Given the description of an element on the screen output the (x, y) to click on. 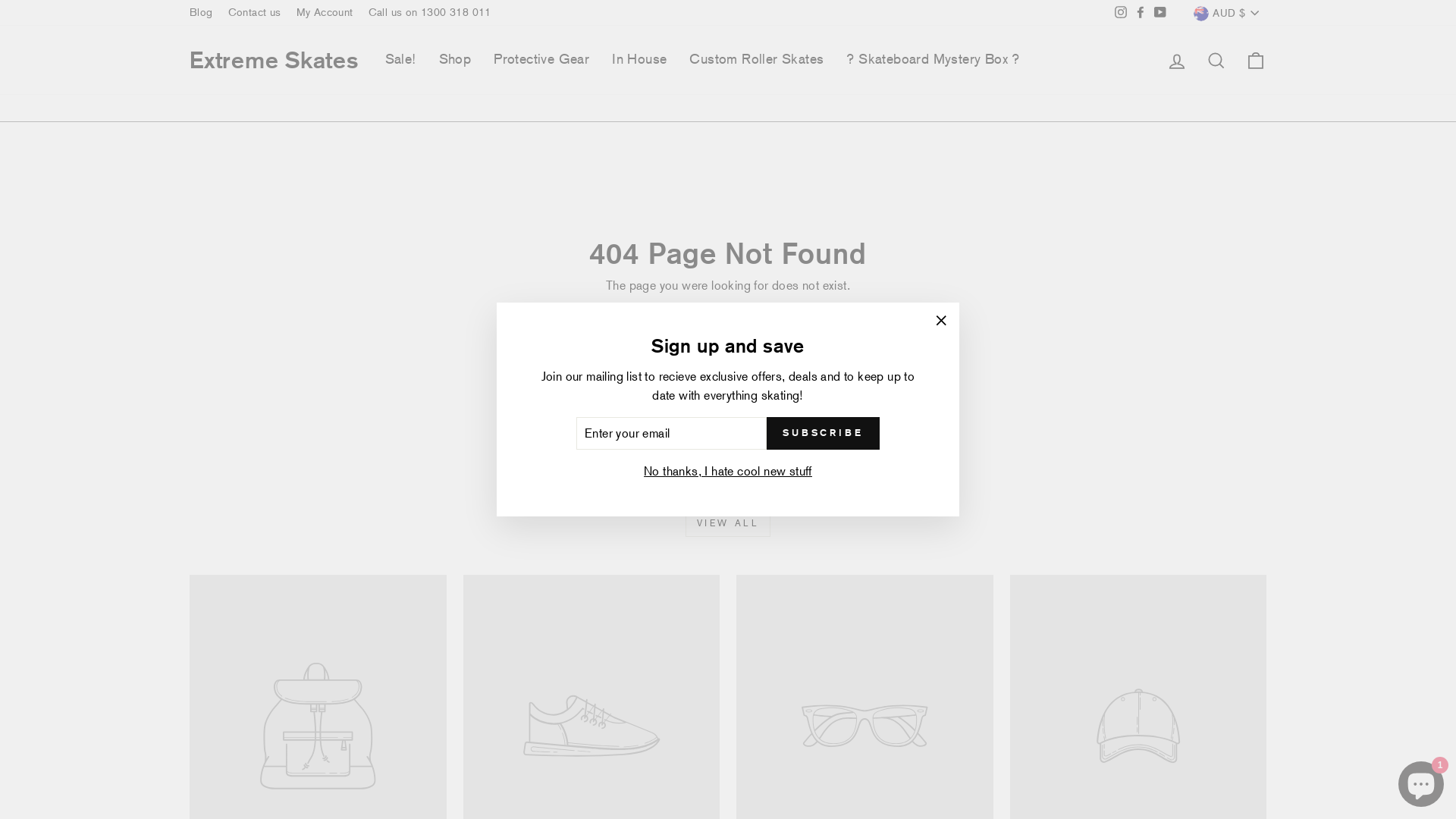
Instagram Element type: text (1120, 12)
No thanks, I hate cool new stuff Element type: text (727, 471)
Blog Element type: text (201, 12)
Search Element type: text (1216, 59)
In House Element type: text (638, 59)
Custom Roller Skates Element type: text (755, 59)
YouTube Element type: text (1160, 12)
Continue shopping Element type: text (727, 312)
Log in Element type: text (1176, 59)
AUD $ Element type: text (1225, 12)
Shopify online store chat Element type: hover (1420, 780)
My Account Element type: text (324, 12)
Protective Gear Element type: text (541, 59)
Contact us Element type: text (254, 12)
"Close (esc)" Element type: text (940, 320)
VIEW ALL Element type: text (728, 523)
Call us on 1300 318 011 Element type: text (429, 12)
Skip to content Element type: text (0, 0)
Sale! Element type: text (399, 59)
Facebook Element type: text (1140, 12)
SUBSCRIBE Element type: text (822, 433)
Extreme Skates Element type: text (273, 59)
Shop Element type: text (455, 59)
Cart Element type: text (1255, 59)
? Skateboard Mystery Box ? Element type: text (932, 59)
